Given the description of an element on the screen output the (x, y) to click on. 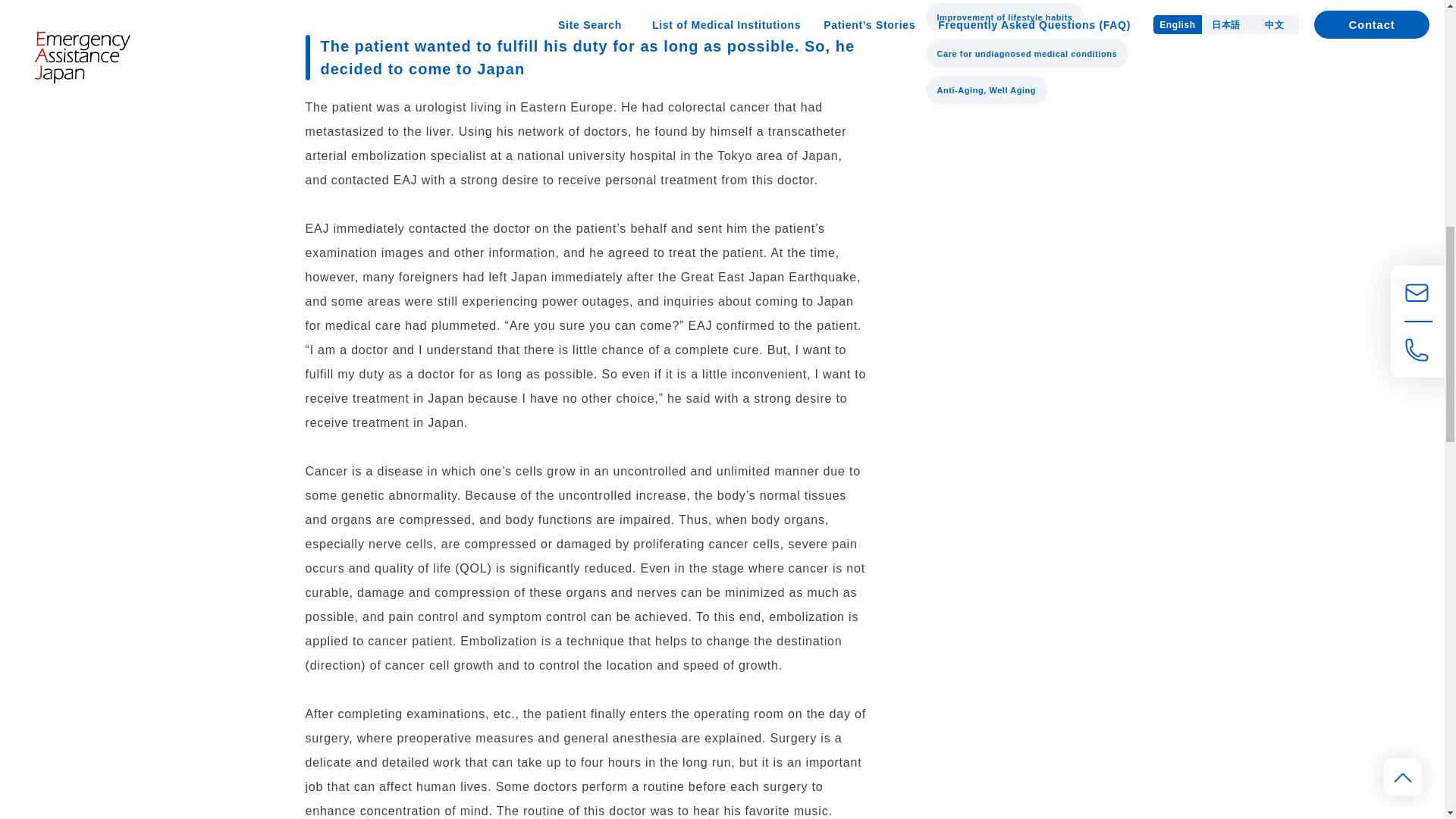
Anti-Aging, Well Aging (985, 90)
Improvement of lifestyle habits (1003, 17)
Care for undiagnosed medical conditions (1026, 53)
